Given the description of an element on the screen output the (x, y) to click on. 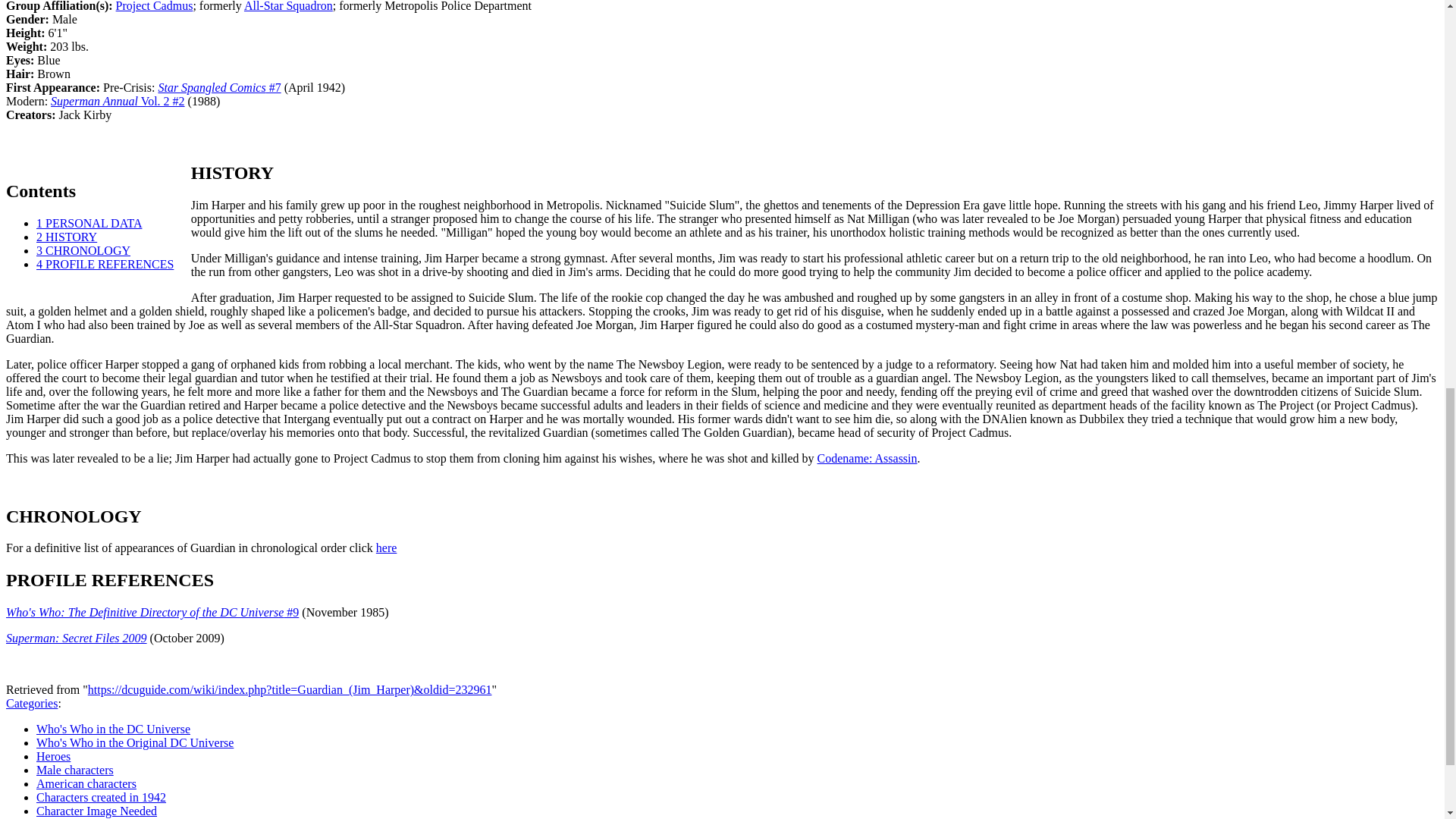
Project Cadmus (154, 6)
All-Star Squadron (288, 6)
Superman Annual Vol. 2 2 (117, 101)
Star Spangled Comics 7 (219, 87)
All-Star Squadron (288, 6)
Who's Who: The Definitive Directory of the DC Universe 9 (151, 612)
Project Cadmus (154, 6)
